Given the description of an element on the screen output the (x, y) to click on. 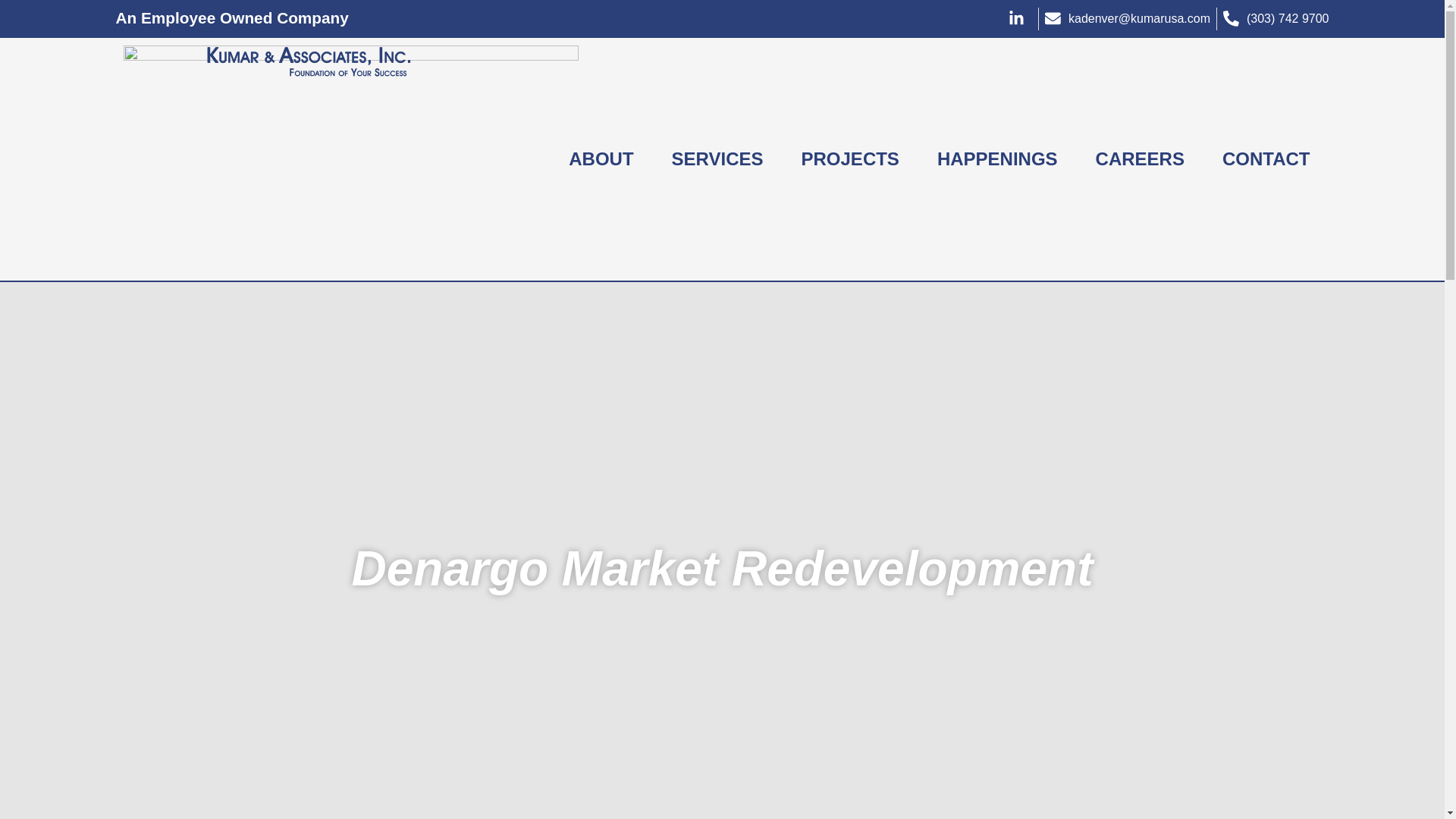
CAREERS (1140, 159)
SERVICES (717, 159)
HAPPENINGS (997, 159)
PROJECTS (850, 159)
ABOUT (601, 159)
CONTACT (1266, 159)
